Given the description of an element on the screen output the (x, y) to click on. 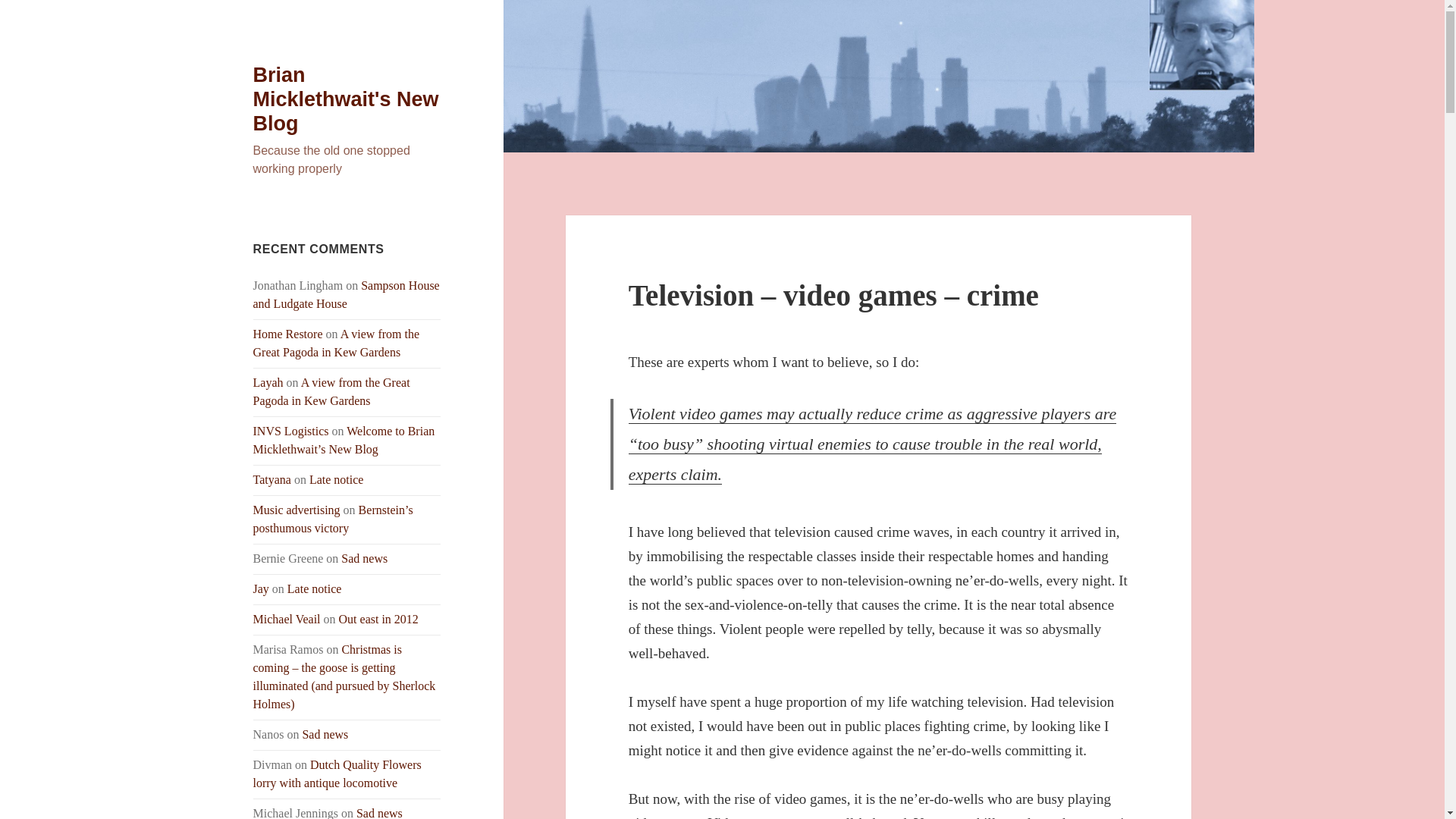
Out east in 2012 (379, 618)
Sad news (379, 812)
Dutch Quality Flowers lorry with antique locomotive (337, 773)
Sampson House and Ludgate House (346, 294)
Jay (261, 588)
Home Restore (288, 333)
Layah (268, 382)
Michael Veail (286, 618)
INVS Logistics (291, 431)
Late notice (314, 588)
Sad news (363, 558)
Late notice (336, 479)
Brian Micklethwait's New Blog (346, 99)
A view from the Great Pagoda in Kew Gardens (336, 342)
A view from the Great Pagoda in Kew Gardens (331, 391)
